Given the description of an element on the screen output the (x, y) to click on. 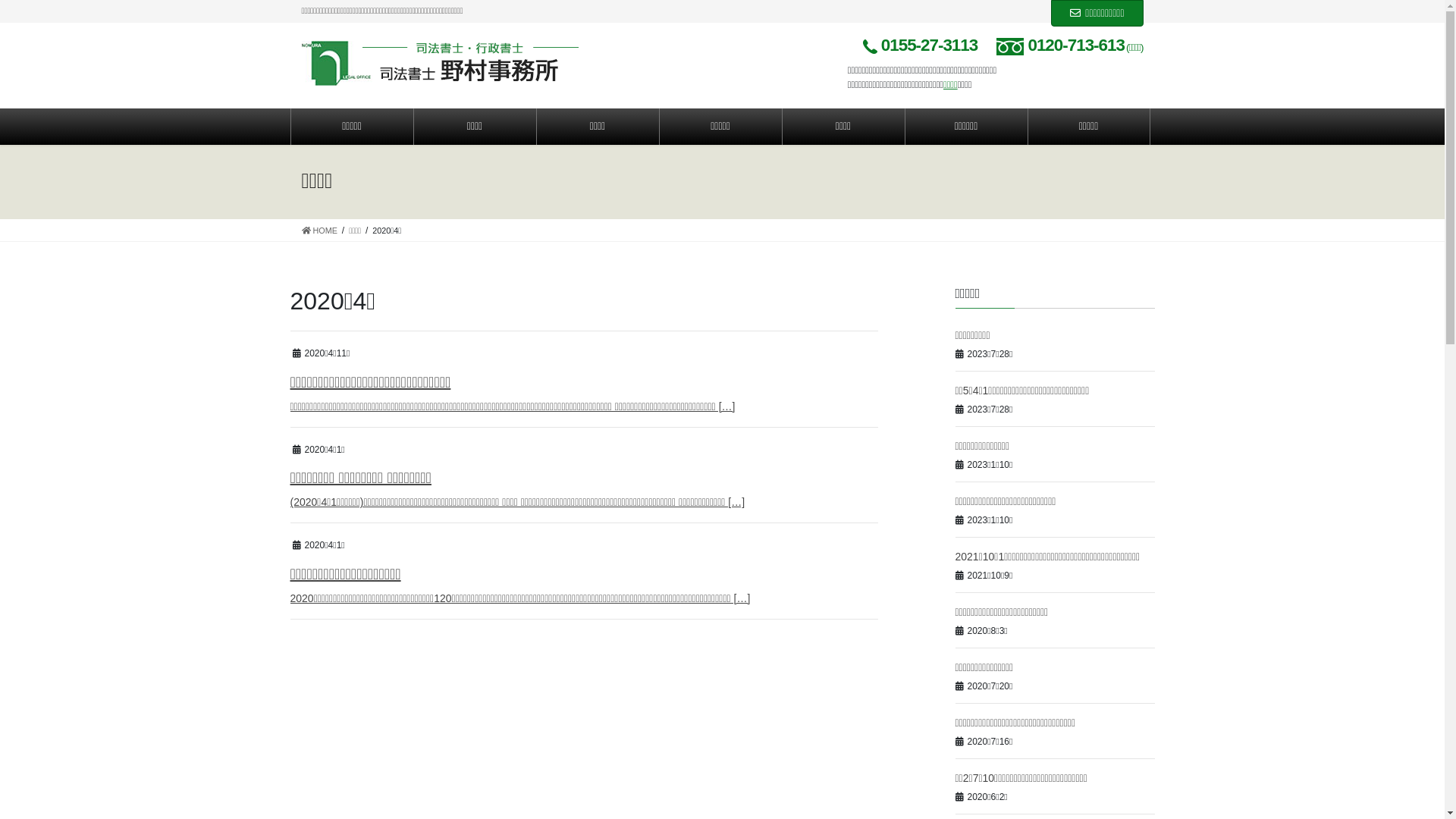
HOME Element type: text (319, 230)
